Given the description of an element on the screen output the (x, y) to click on. 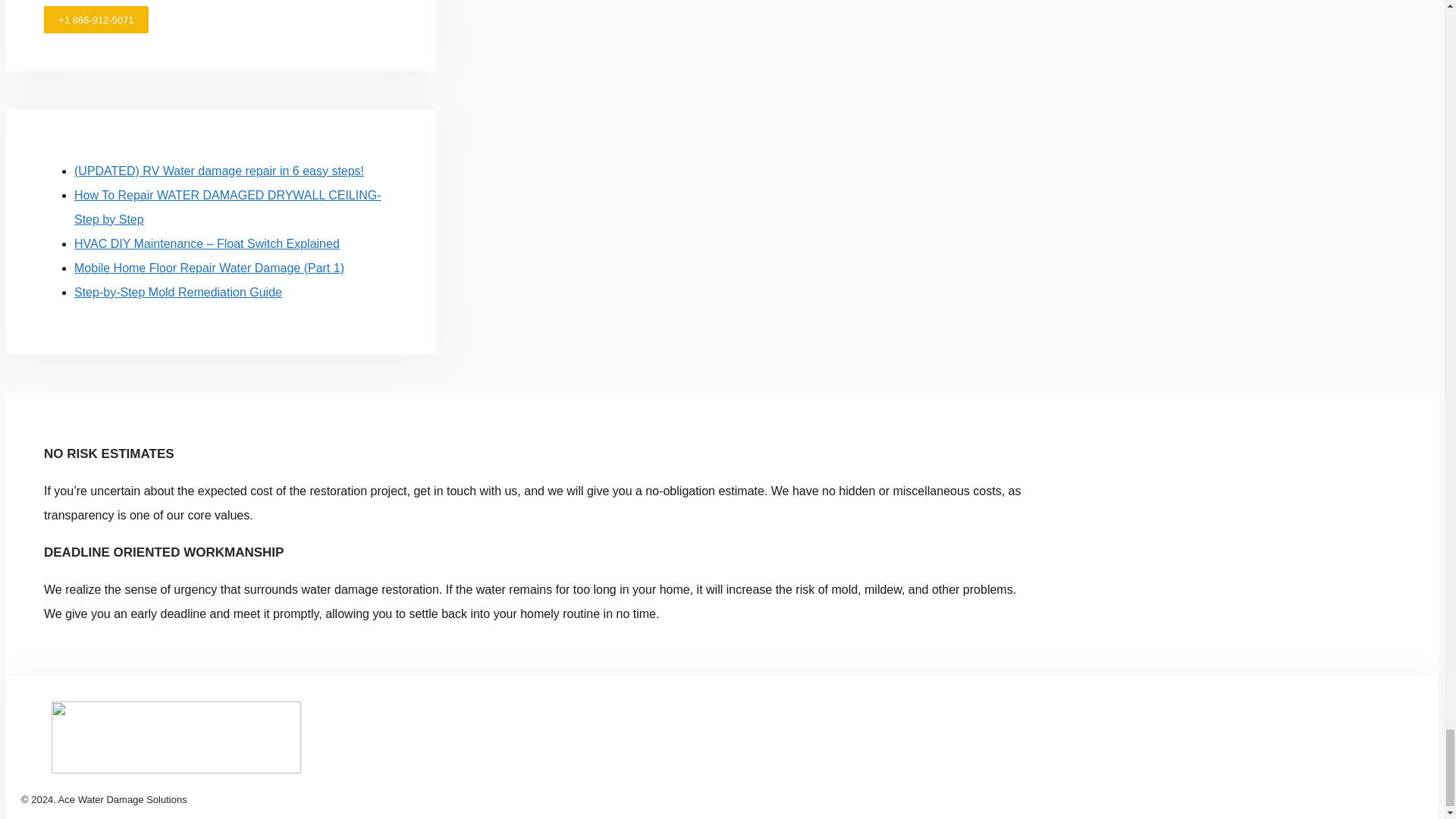
How To Repair WATER DAMAGED DRYWALL CEILING- Step by Step (227, 207)
Step-by-Step Mold Remediation Guide (178, 291)
